Given the description of an element on the screen output the (x, y) to click on. 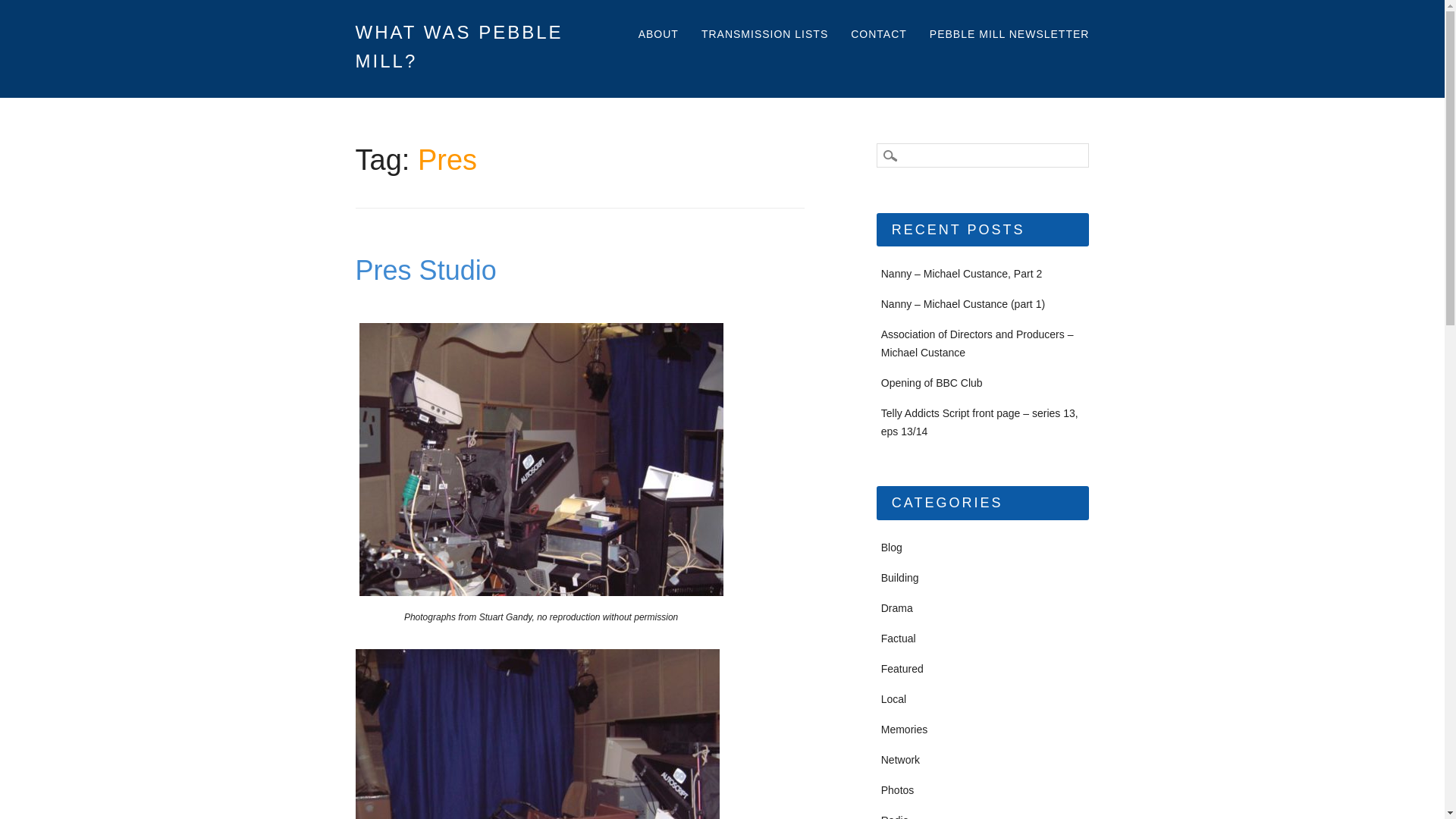
Blog (891, 547)
Drama (896, 607)
Network (900, 759)
Photos (897, 789)
Factual (897, 638)
Local (892, 698)
Permalink to Pres Studio (425, 269)
ABOUT (657, 34)
PEBBLE MILL NEWSLETTER (1009, 34)
Pres Studio (425, 269)
